Given the description of an element on the screen output the (x, y) to click on. 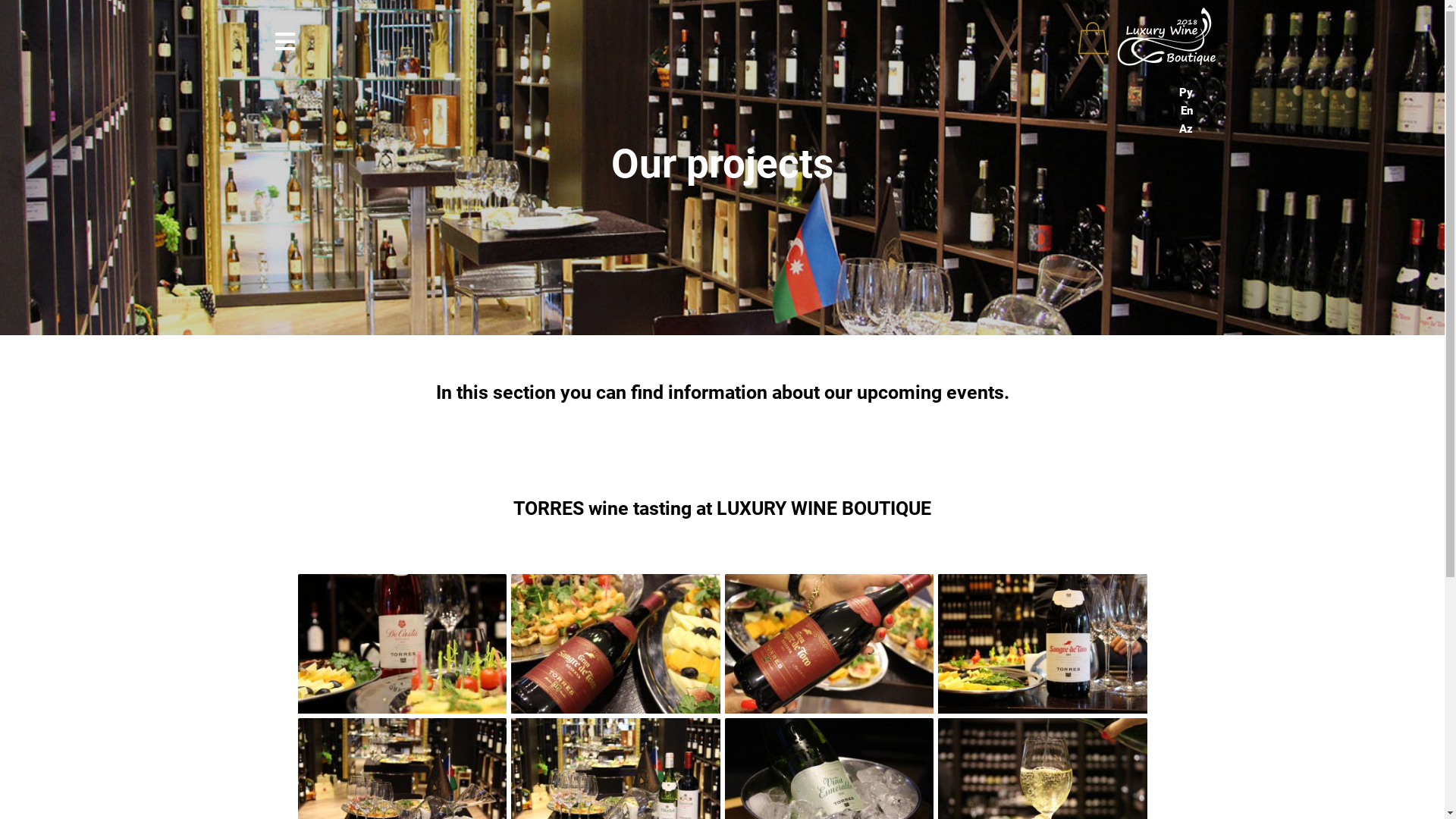
bububu.png Element type: hover (1146, 37)
Az Element type: text (960, 128)
En Element type: text (960, 110)
